Given the description of an element on the screen output the (x, y) to click on. 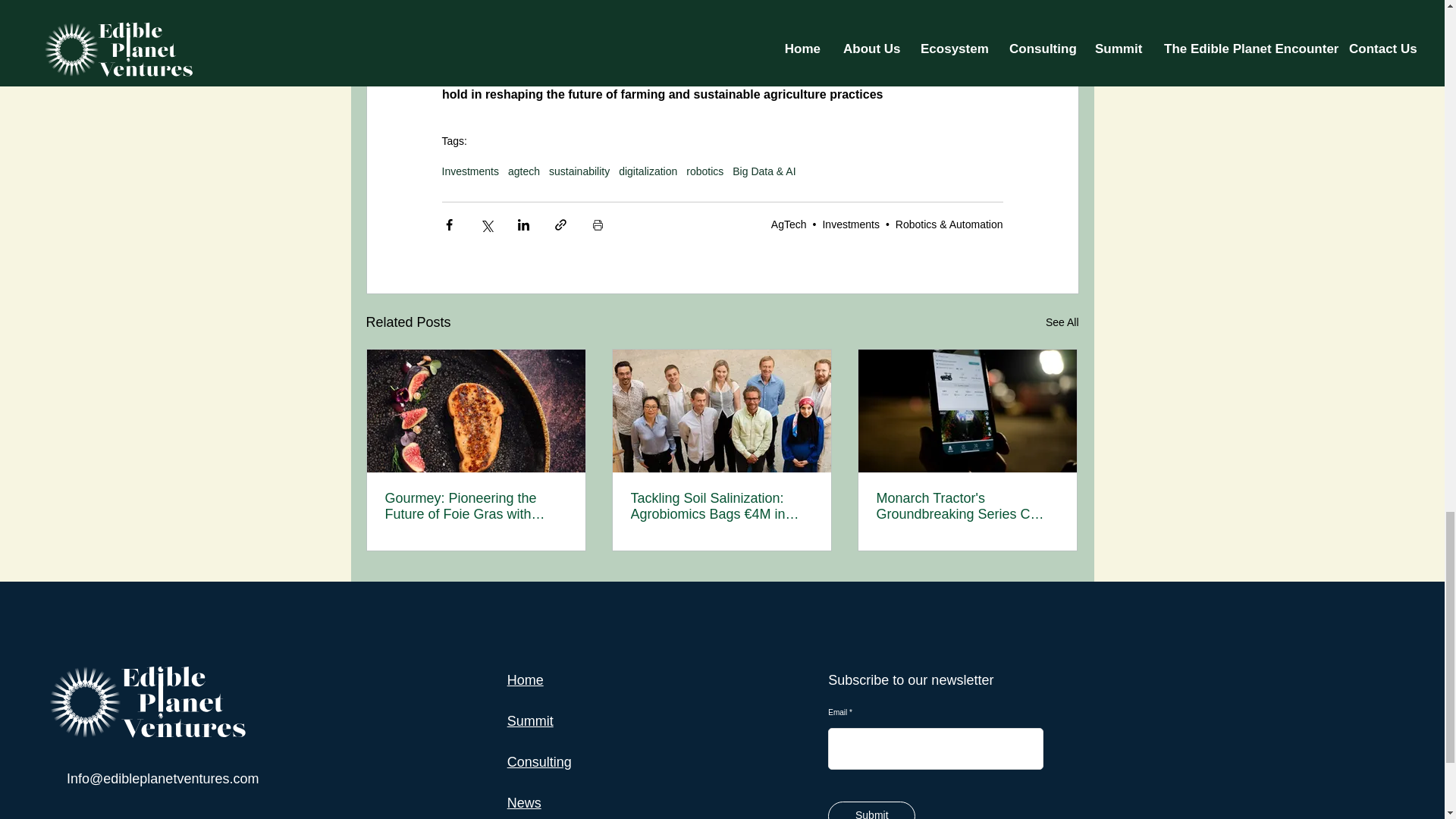
AgTech (788, 224)
digitalization (647, 171)
agtech (524, 171)
See All (1061, 322)
robotics (704, 171)
Investments (850, 224)
sustainability (579, 171)
Investments (469, 171)
